Given the description of an element on the screen output the (x, y) to click on. 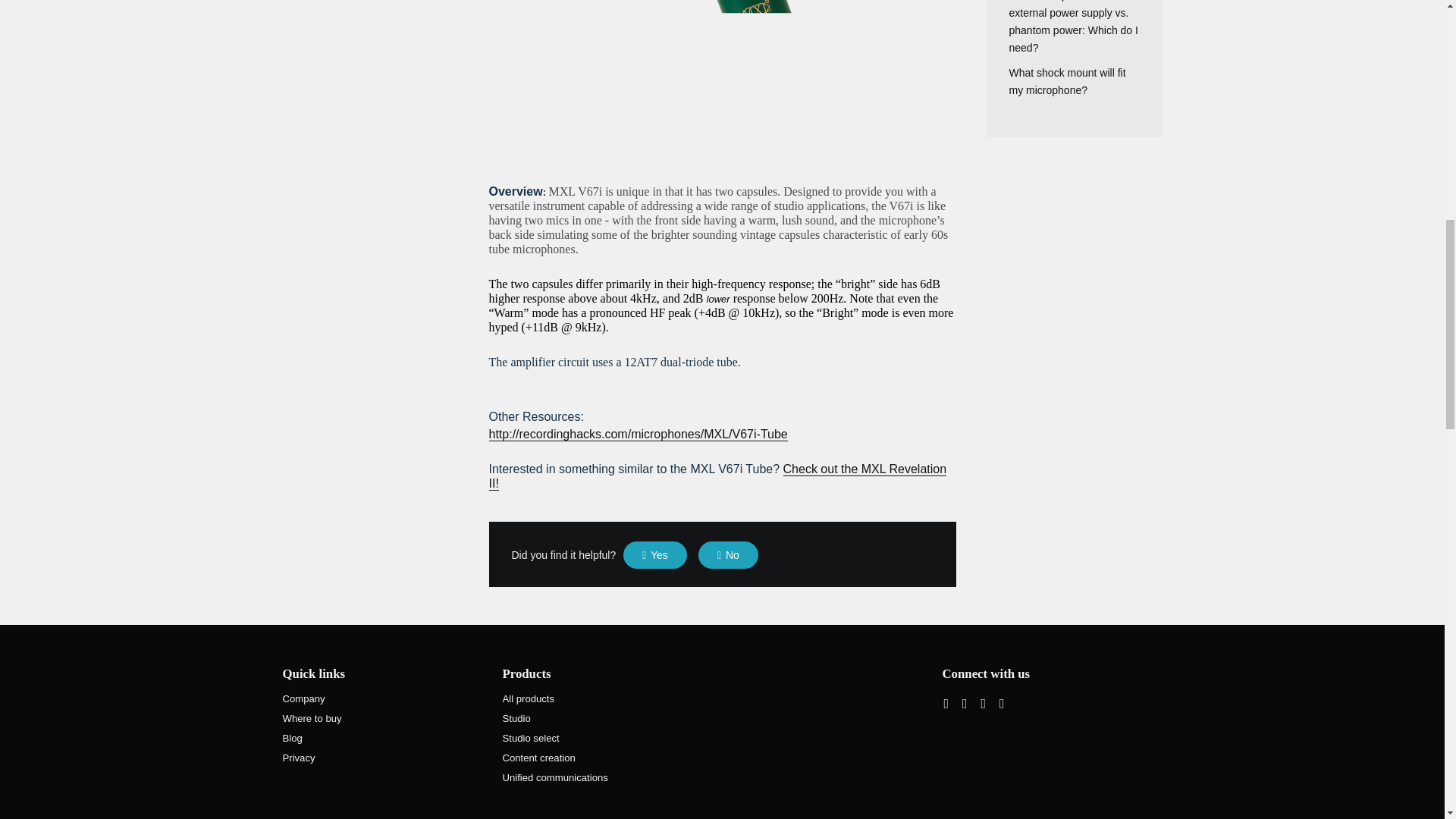
All products (528, 698)
What shock mount will fit my microphone? (1067, 81)
Check out the MXL Revelation II! (716, 477)
Privacy (298, 757)
Blog (291, 737)
Studio (515, 717)
Content creation (538, 757)
Where to buy (311, 717)
Company (303, 698)
